Given the description of an element on the screen output the (x, y) to click on. 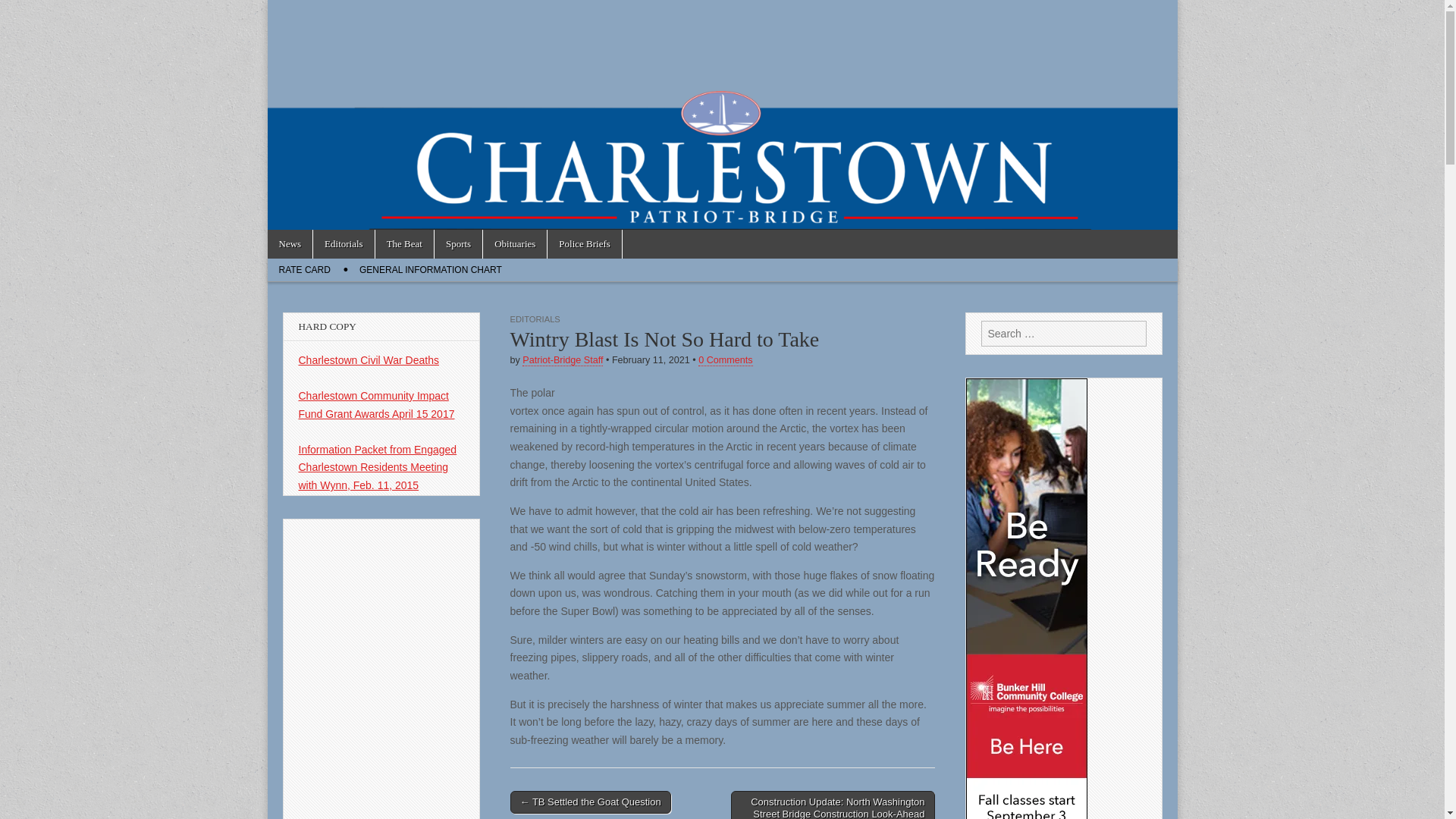
EDITORIALS (534, 318)
Obituaries (515, 244)
0 Comments (725, 360)
Sports (457, 244)
GENERAL INFORMATION CHART (430, 269)
Posts by Patriot-Bridge Staff (562, 360)
RATE CARD (303, 269)
Charlestown Community Impact Fund Grant Awards April 15 2017 (376, 404)
Search (23, 12)
The Beat (404, 244)
Editorials (343, 244)
News (289, 244)
Charlestown Civil War Deaths (368, 359)
